Given the description of an element on the screen output the (x, y) to click on. 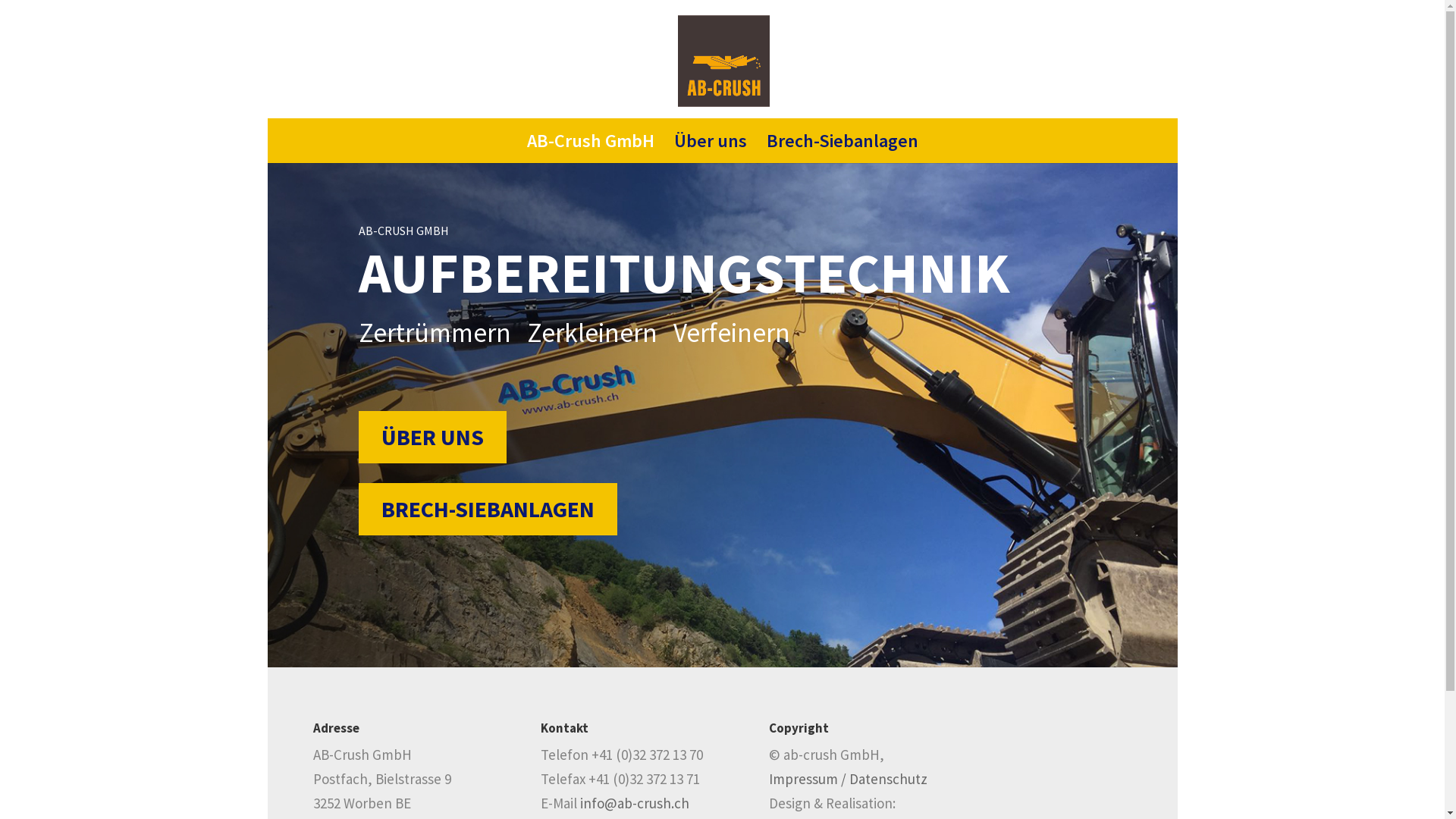
BRECH-SIEBANLAGEN Element type: text (486, 509)
Brech-Siebanlagen Element type: text (841, 149)
Impressum / Datenschutz Element type: text (847, 778)
AB-Crush GmbH Element type: text (589, 149)
info@ab-crush.ch Element type: text (634, 802)
